Given the description of an element on the screen output the (x, y) to click on. 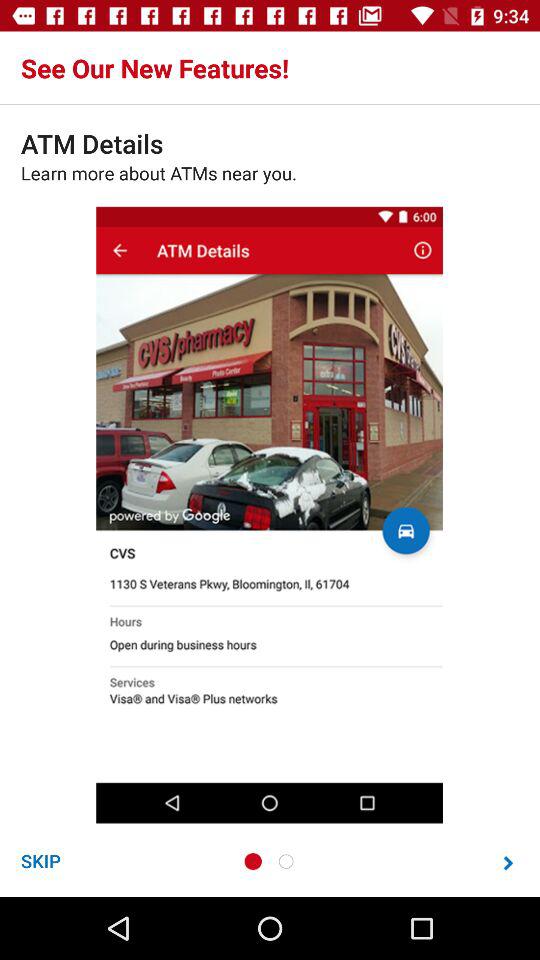
choose the icon below learn more about icon (40, 860)
